Given the description of an element on the screen output the (x, y) to click on. 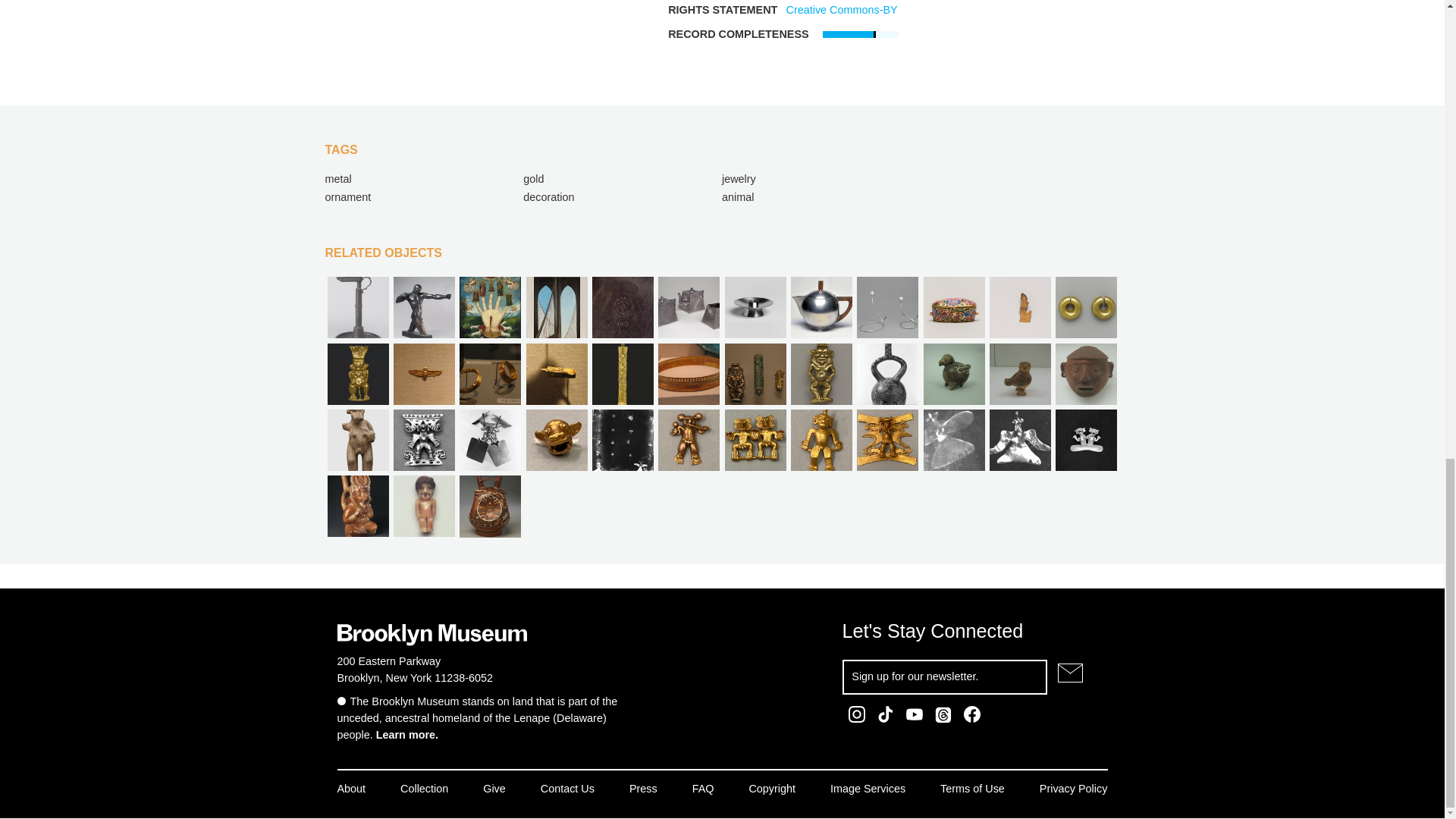
Items tagged decoration (547, 196)
Items tagged jewelry (738, 178)
Items tagged ornament (347, 196)
Items tagged metal (337, 178)
Items tagged animal (738, 196)
Items tagged gold (532, 178)
